Given the description of an element on the screen output the (x, y) to click on. 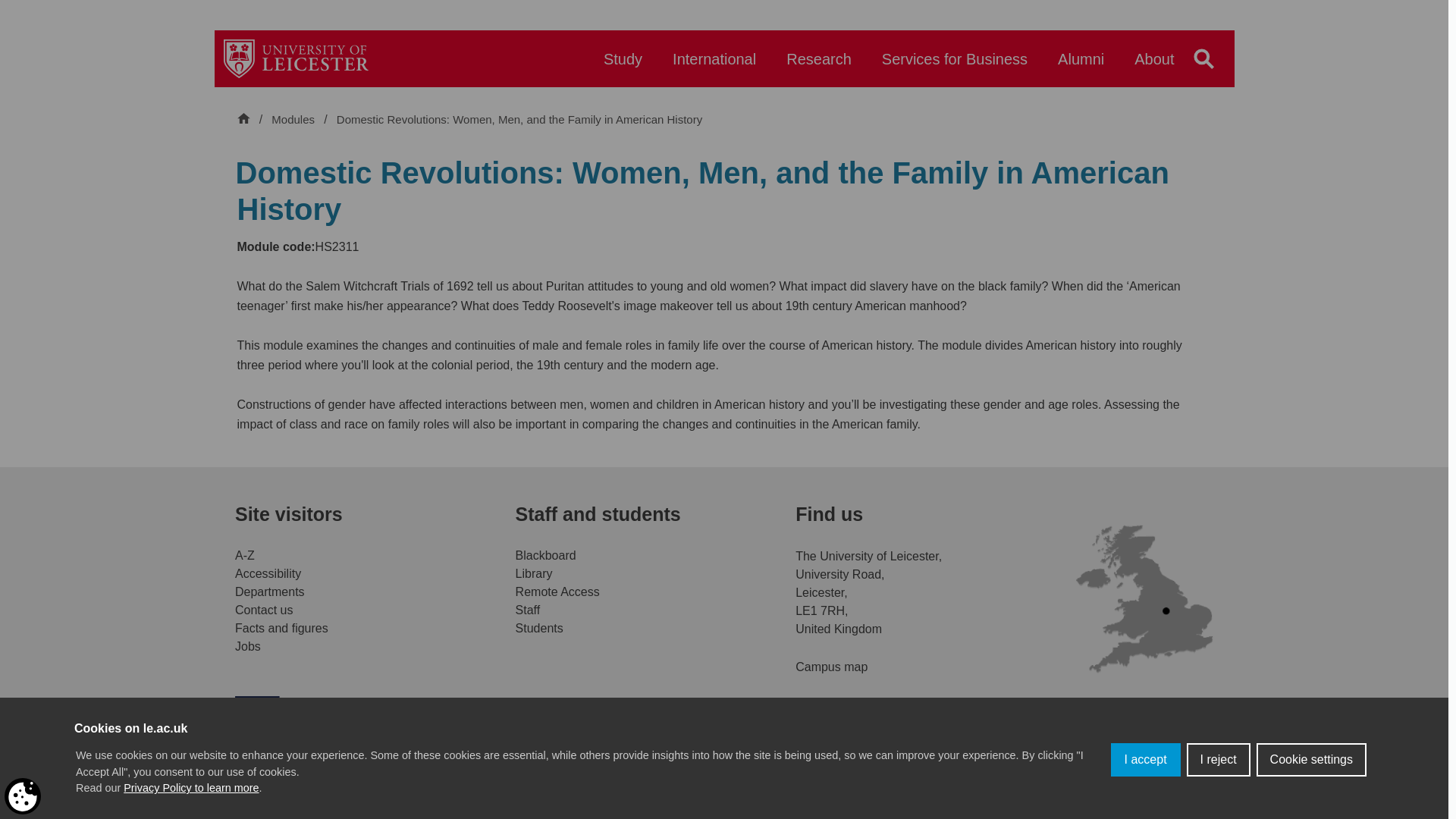
Cookie settings (1311, 802)
Study (623, 65)
Return to homepage (295, 58)
I reject (1218, 811)
I accept (1145, 816)
Modules (293, 119)
